Given the description of an element on the screen output the (x, y) to click on. 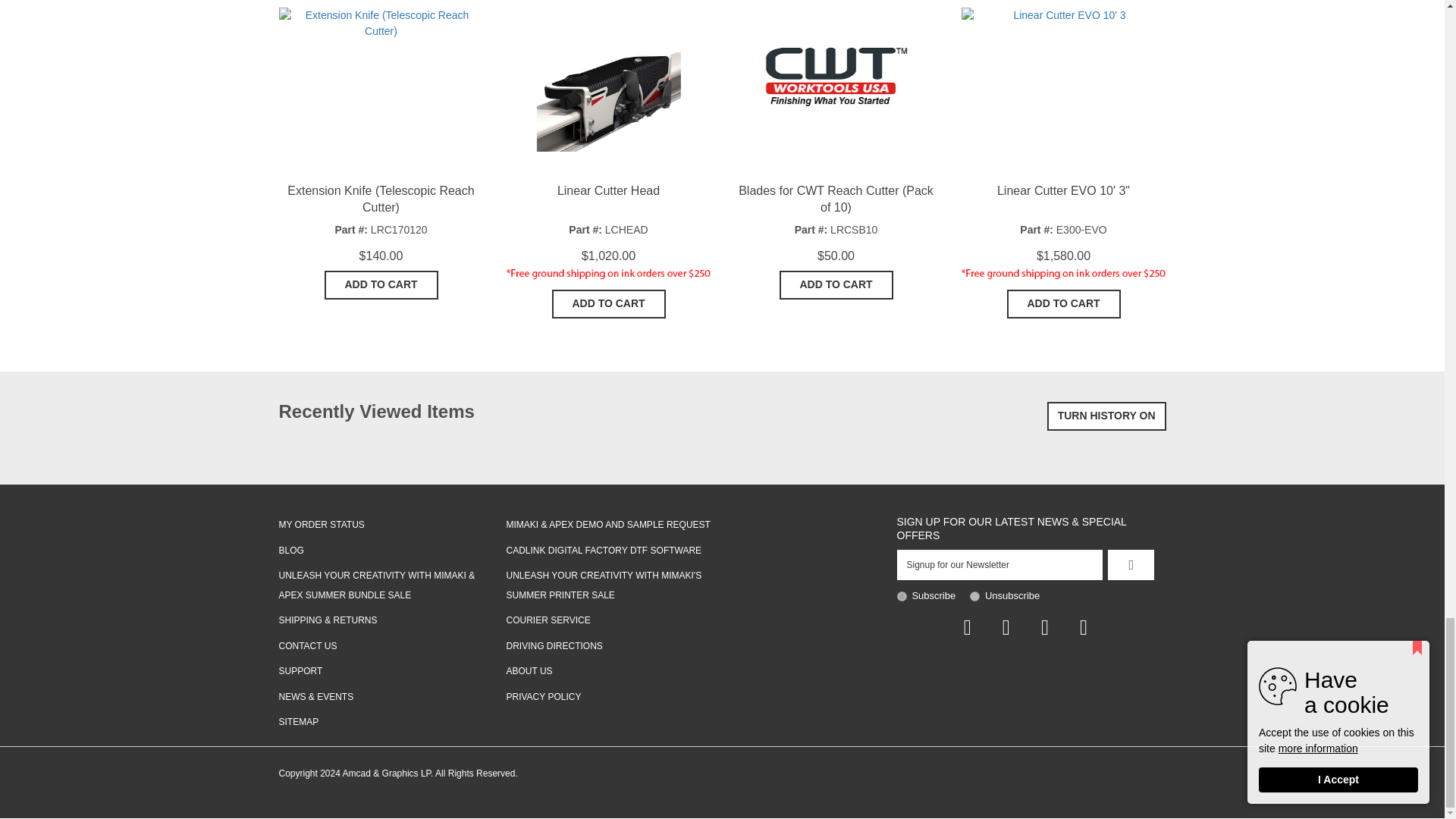
Like Us on Facebook (966, 627)
Follow Us on Instagram (1083, 627)
Subscribe to our Channel (1044, 627)
Follow Us on Twitter (1005, 627)
1 (900, 596)
0 (974, 596)
